Given the description of an element on the screen output the (x, y) to click on. 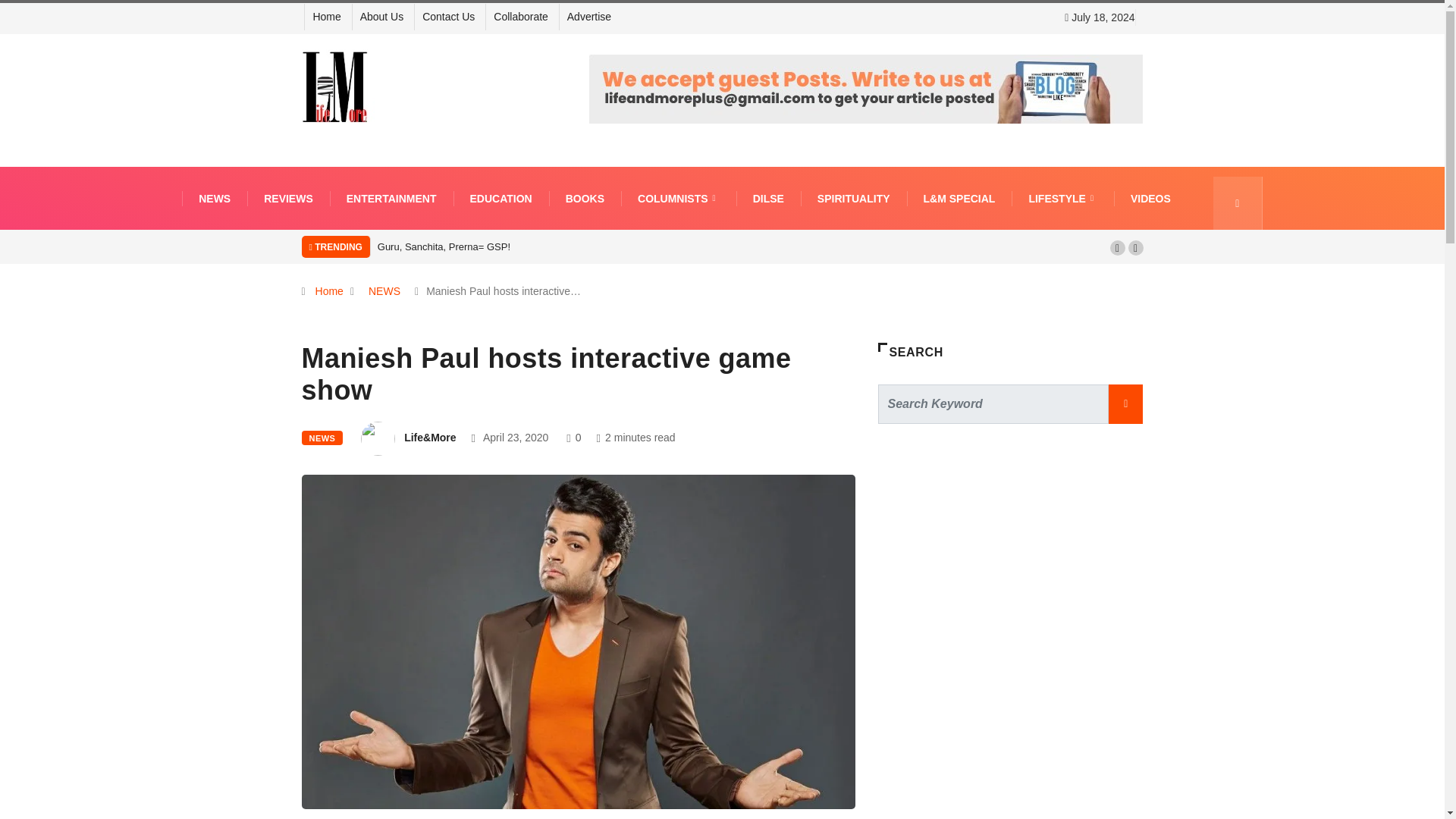
Collaborate (520, 16)
Advertisement (991, 765)
SPIRITUALITY (853, 197)
NEWS (214, 197)
Contact Us (448, 16)
Home (326, 16)
Advertise (589, 16)
LIFESTYLE (1062, 197)
DILSE (768, 197)
BOOKS (584, 197)
popup modal for search (1237, 203)
REVIEWS (288, 197)
Advertisement (1017, 575)
COLUMNISTS (678, 197)
ENTERTAINMENT (391, 197)
